Given the description of an element on the screen output the (x, y) to click on. 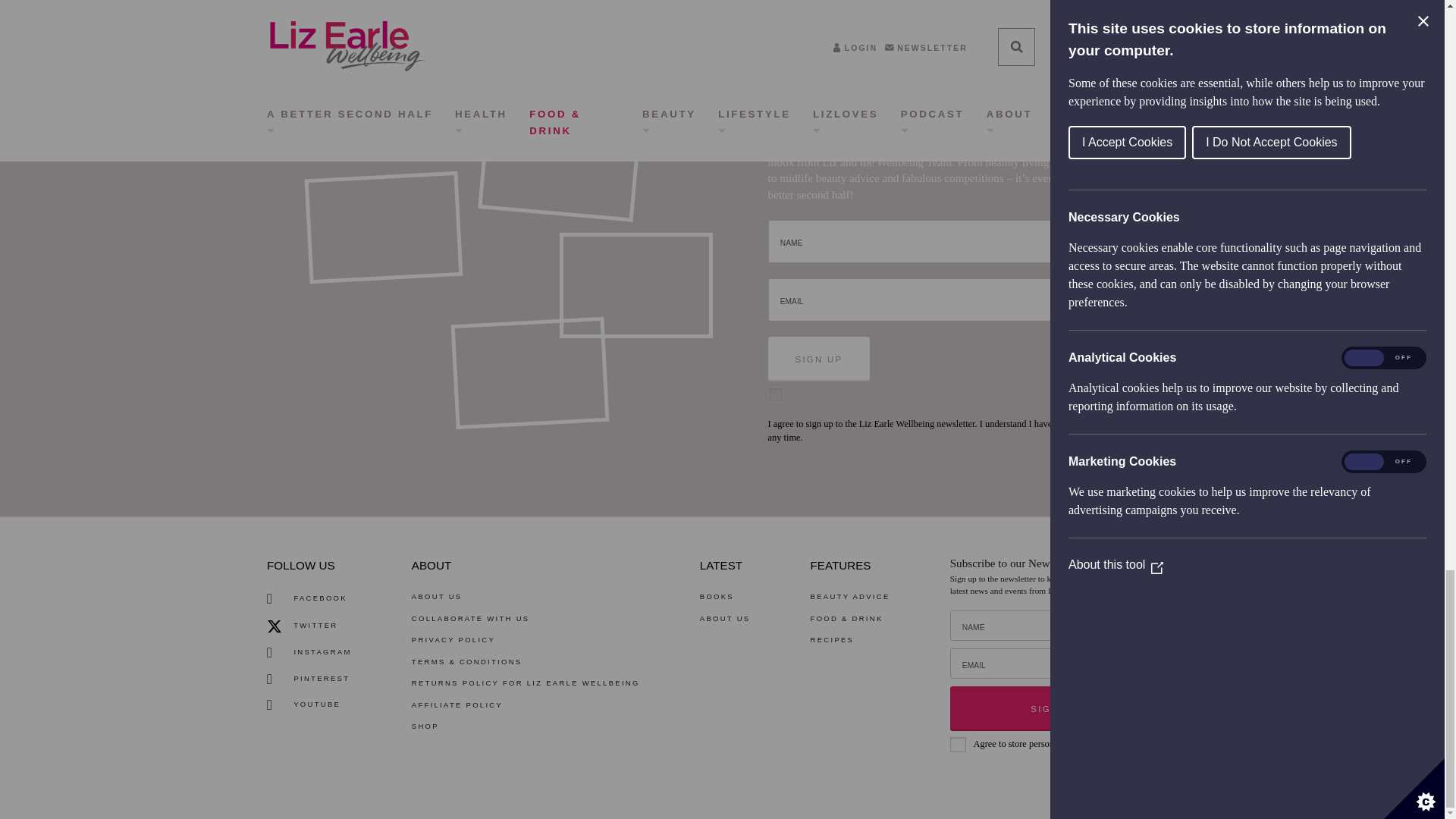
pinterest (309, 678)
instagram (309, 652)
facebook (309, 598)
true (958, 744)
Sign up (1054, 707)
true (776, 394)
Sign up (819, 358)
twitter (309, 626)
